Given the description of an element on the screen output the (x, y) to click on. 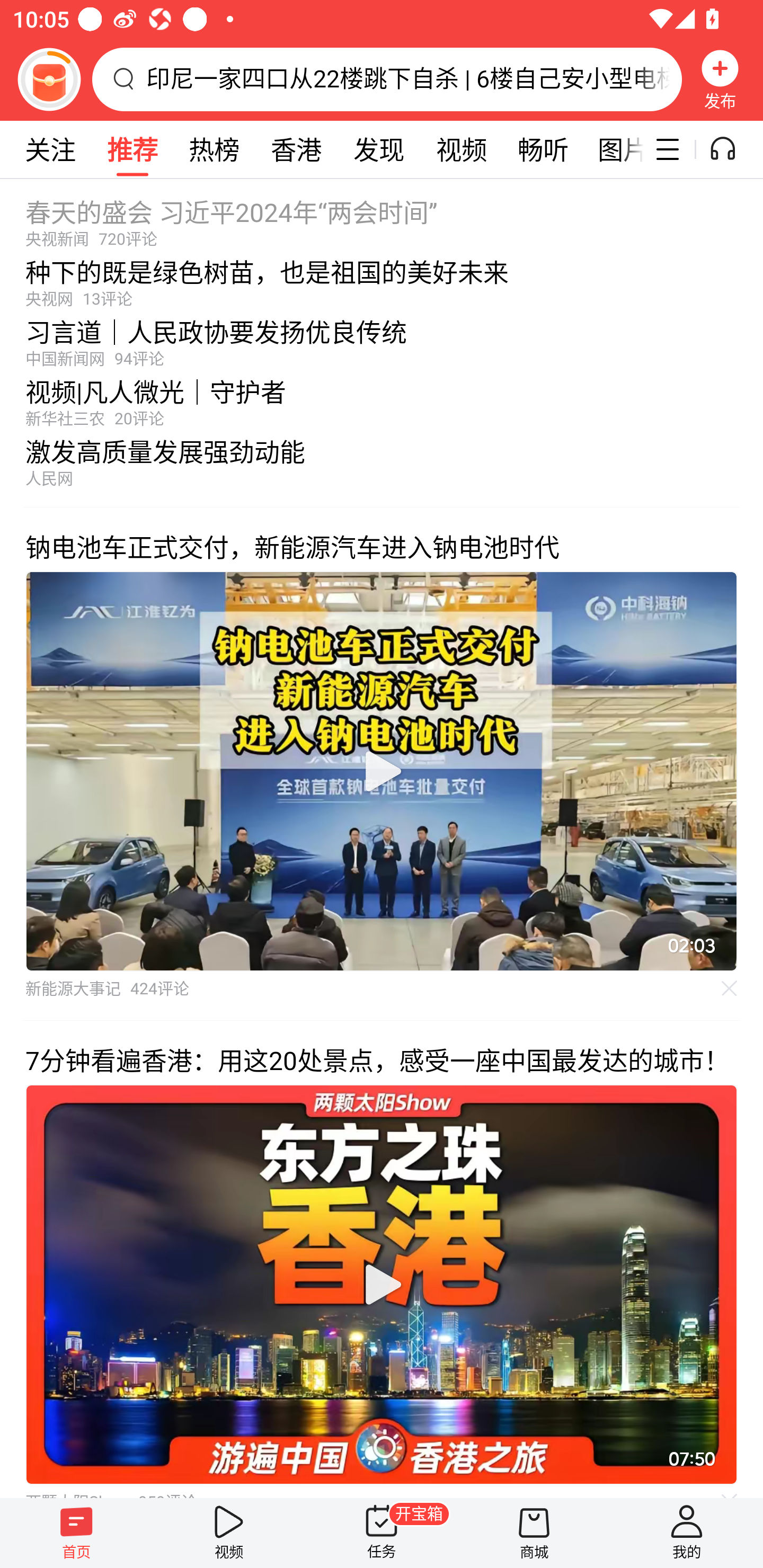
阅读赚金币 (48, 79)
发布 发布，按钮 (720, 78)
关注 (50, 149)
推荐 (132, 149)
热榜 (213, 149)
香港 (295, 149)
发现 (378, 149)
视频 (461, 149)
畅听 (542, 149)
图片 (613, 149)
听一听开关 (732, 149)
视频|凡人微光｜守护者新华社三农20评论 文章 视频|凡人微光｜守护者 新华社三农20评论 (381, 398)
激发高质量发展强劲动能人民网 文章 激发高质量发展强劲动能 人民网 (381, 467)
播放视频 视频播放器，双击屏幕打开播放控制 (381, 771)
播放视频 (381, 771)
不感兴趣 (729, 987)
播放视频 视频播放器，双击屏幕打开播放控制 (381, 1284)
播放视频 (381, 1284)
首页 (76, 1532)
视频 (228, 1532)
任务 开宝箱 (381, 1532)
商城 (533, 1532)
我的 (686, 1532)
